Given the description of an element on the screen output the (x, y) to click on. 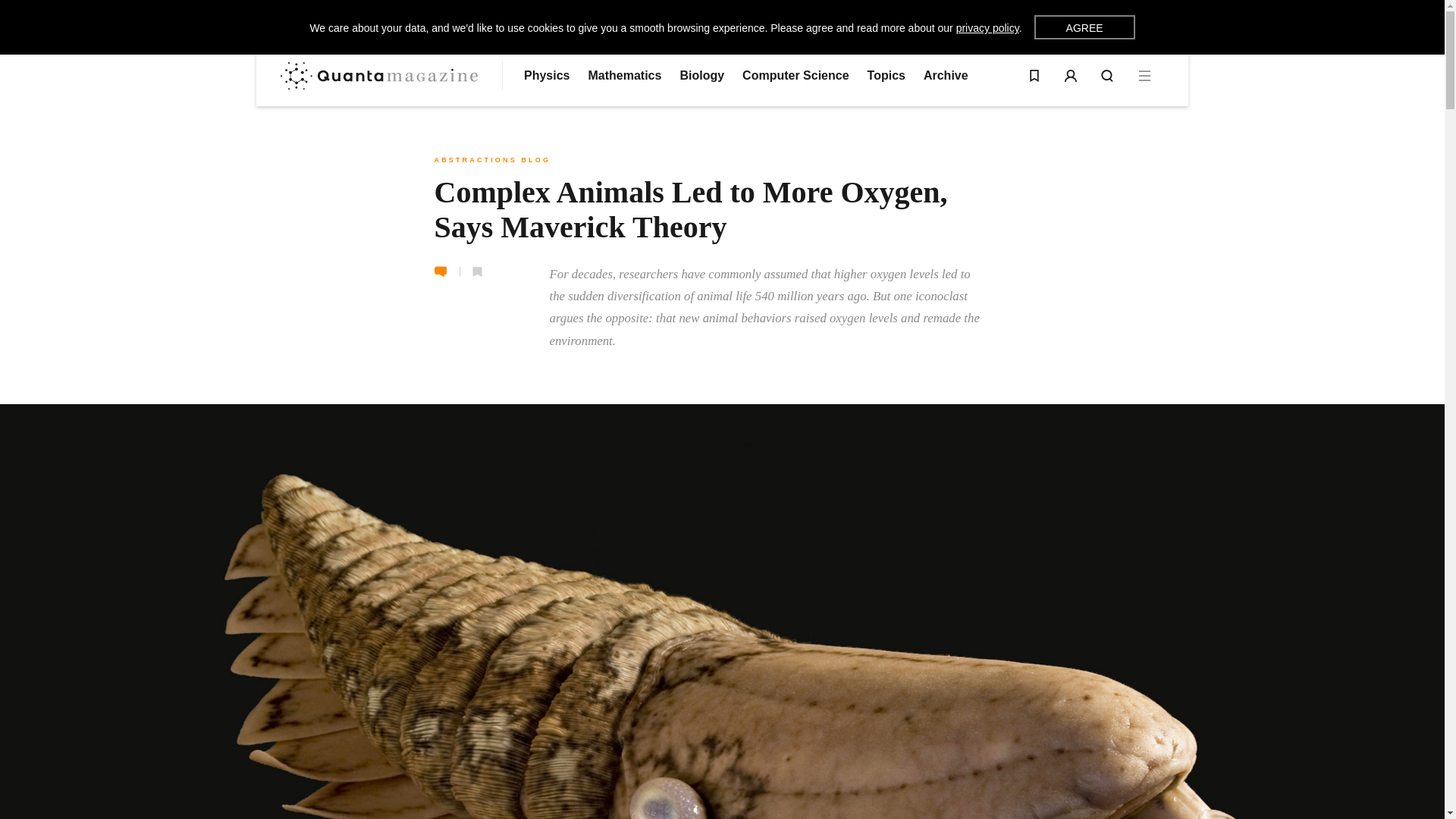
Login (1070, 75)
ABSTRACTIONS BLOG (491, 159)
Saved articles (1034, 75)
Archive (945, 75)
Topics (886, 75)
Search (1106, 75)
privacy policy (987, 28)
AGREE (1084, 27)
Login (1070, 75)
Physics (546, 75)
Mathematics (624, 75)
Biology (701, 75)
Computer Science (795, 75)
Saved articles (1034, 75)
Search (1106, 75)
